Given the description of an element on the screen output the (x, y) to click on. 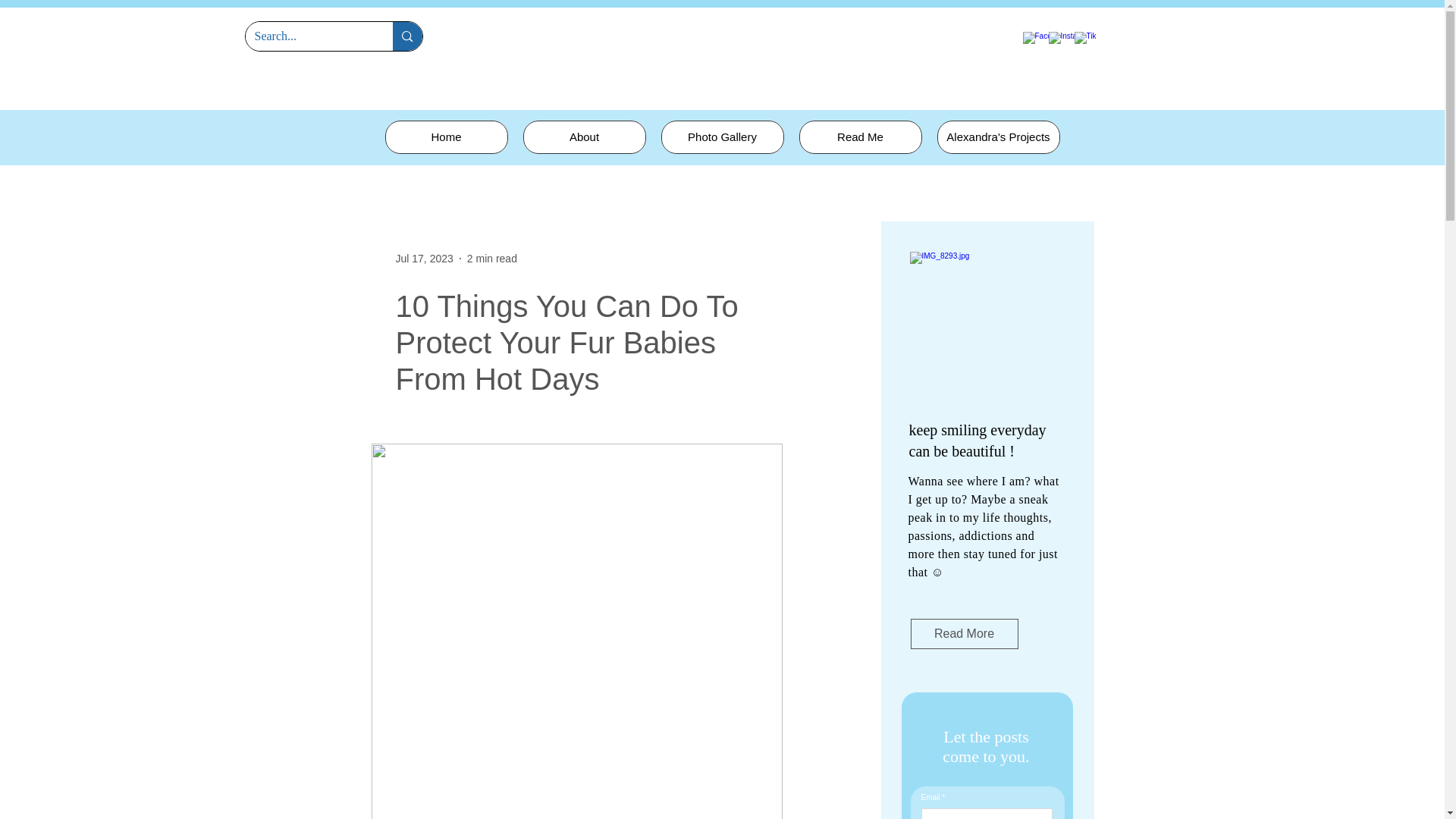
About (584, 136)
Home (446, 136)
2 min read (491, 257)
Read More (963, 634)
Alexandra's Projects (998, 136)
Jul 17, 2023 (424, 257)
Photo Gallery (722, 136)
Read Me (860, 136)
